Given the description of an element on the screen output the (x, y) to click on. 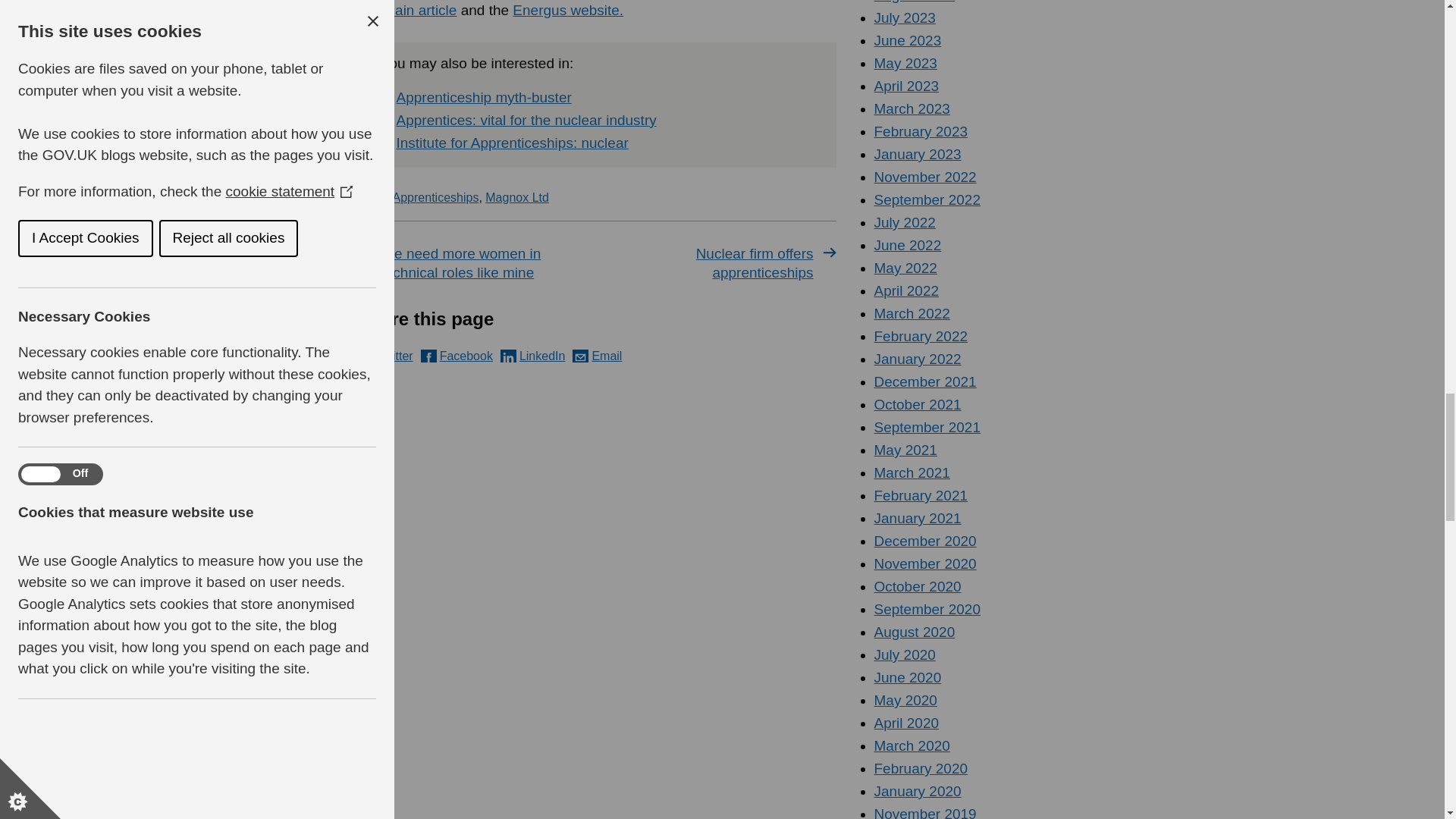
Energus website. (567, 10)
We need more women in technical roles like mine (475, 262)
Apprentices: vital for the nuclear industry (526, 119)
Nuclear firm offers apprenticeships (718, 262)
Magnox Ltd (516, 196)
Apprenticeships (436, 196)
Facebook (456, 355)
Institute for Apprenticeships: nuclear (511, 142)
Email (596, 355)
main article (419, 10)
